Given the description of an element on the screen output the (x, y) to click on. 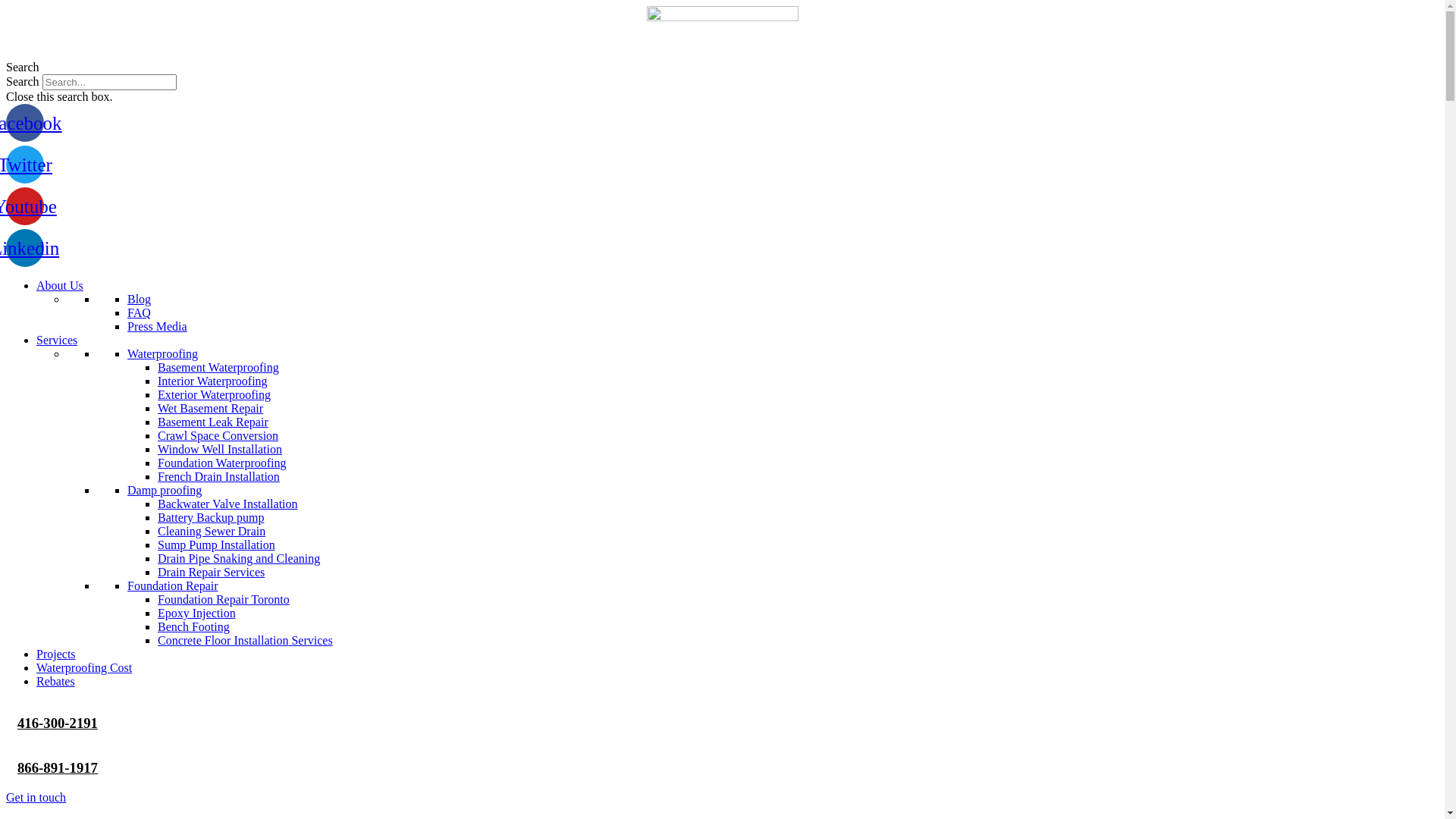
FAQ Element type: text (138, 312)
Wet Basement Repair Element type: text (210, 407)
Cleaning Sewer Drain Element type: text (211, 530)
Basement Leak Repair Element type: text (212, 421)
Services Element type: text (56, 339)
Linkedin Element type: text (24, 247)
Foundation Repair Toronto Element type: text (223, 599)
416-300-2191 Element type: text (57, 723)
Waterproofing Element type: text (162, 353)
Sump Pump Installation Element type: text (216, 544)
Damp proofing Element type: text (164, 489)
Drain Repair Services Element type: text (210, 571)
866-891-1917 Element type: text (57, 767)
Foundation Waterproofing Element type: text (221, 462)
Rebates Element type: text (55, 680)
Exterior Waterproofing Element type: text (213, 394)
Facebook Element type: text (24, 122)
Concrete Floor Installation Services Element type: text (244, 639)
Waterproofing Cost Element type: text (83, 667)
Battery Backup pump Element type: text (210, 517)
Get in touch Element type: text (35, 796)
Bench Footing Element type: text (193, 626)
Interior Waterproofing Element type: text (212, 380)
Window Well Installation Element type: text (219, 448)
Press Media Element type: text (157, 326)
Basement Waterproofing Element type: text (218, 366)
Skip to content Element type: text (5, 5)
Projects Element type: text (55, 653)
Drain Pipe Snaking and Cleaning Element type: text (238, 558)
Twitter Element type: text (24, 164)
Epoxy Injection Element type: text (196, 612)
Foundation Repair Element type: text (172, 585)
About Us Element type: text (59, 285)
Crawl Space Conversion Element type: text (217, 435)
Backwater Valve Installation Element type: text (227, 503)
Youtube Element type: text (24, 206)
French Drain Installation Element type: text (218, 476)
Blog Element type: text (138, 298)
